Given the description of an element on the screen output the (x, y) to click on. 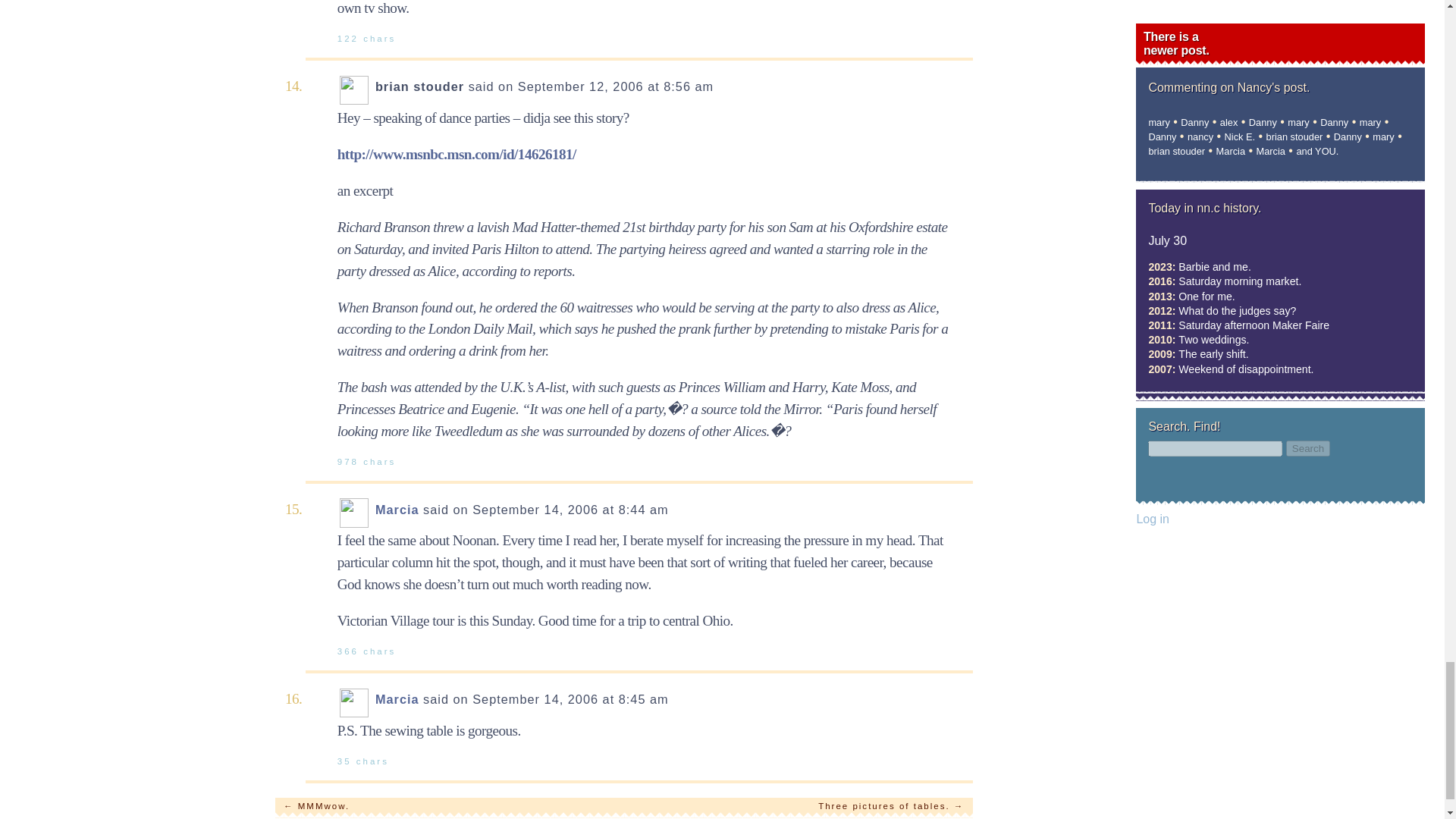
Marcia (397, 698)
Marcia (397, 509)
